Given the description of an element on the screen output the (x, y) to click on. 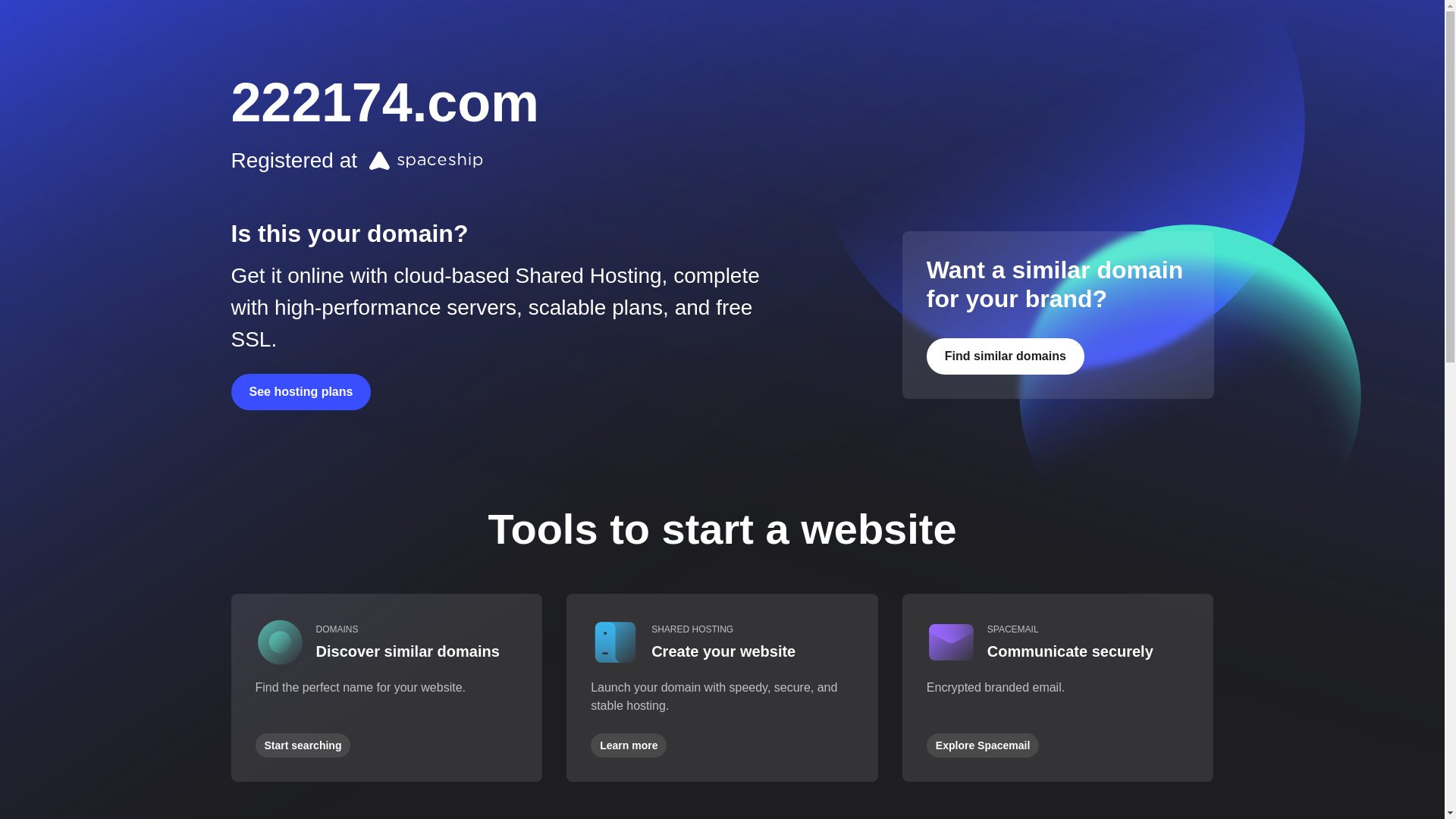
Explore Spacemail Element type: text (982, 745)
Learn more Element type: text (628, 745)
See hosting plans Element type: text (300, 391)
Find similar domains Element type: text (1005, 356)
Start searching Element type: text (303, 745)
